Given the description of an element on the screen output the (x, y) to click on. 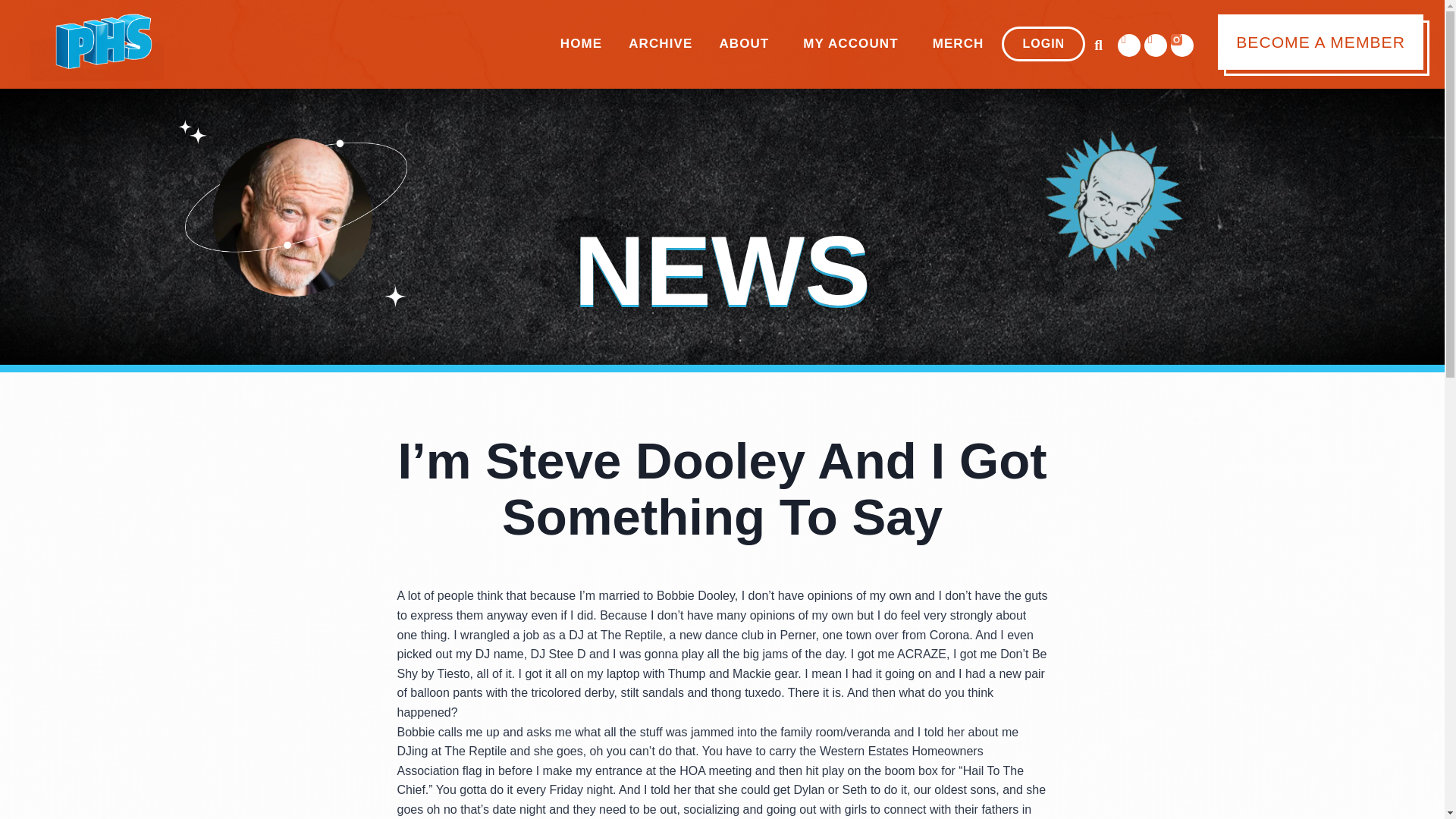
HOME (581, 43)
MY ACCOUNT (854, 43)
ARCHIVE (660, 43)
BECOME A MEMBER (1320, 41)
ABOUT (747, 43)
MERCH (958, 43)
LOGIN (1042, 43)
